Given the description of an element on the screen output the (x, y) to click on. 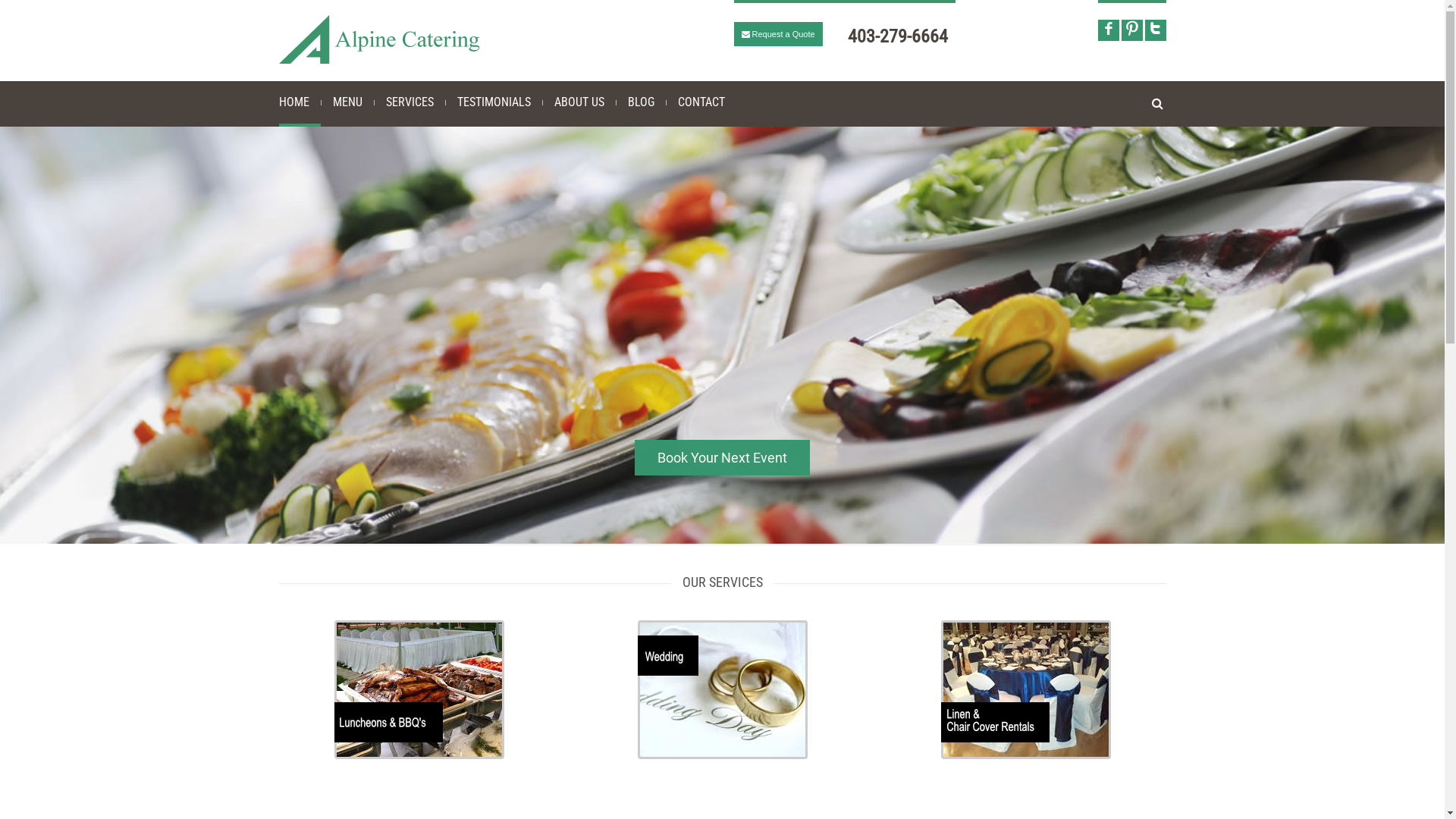
Twitter Element type: hover (1155, 29)
SERVICES Element type: text (409, 103)
ABOUT US Element type: text (578, 103)
FaceBook Element type: hover (1108, 29)
Pinterest Element type: hover (1131, 29)
CONTACT Element type: text (700, 103)
HOME Element type: text (299, 103)
 Request a Quote
403-279-6664 Element type: text (840, 36)
MENU Element type: text (347, 103)
Alpine Catering -- Element type: hover (379, 39)
Book Your Next Event Element type: text (721, 457)
BLOG Element type: text (640, 103)
TESTIMONIALS Element type: text (493, 103)
